Given the description of an element on the screen output the (x, y) to click on. 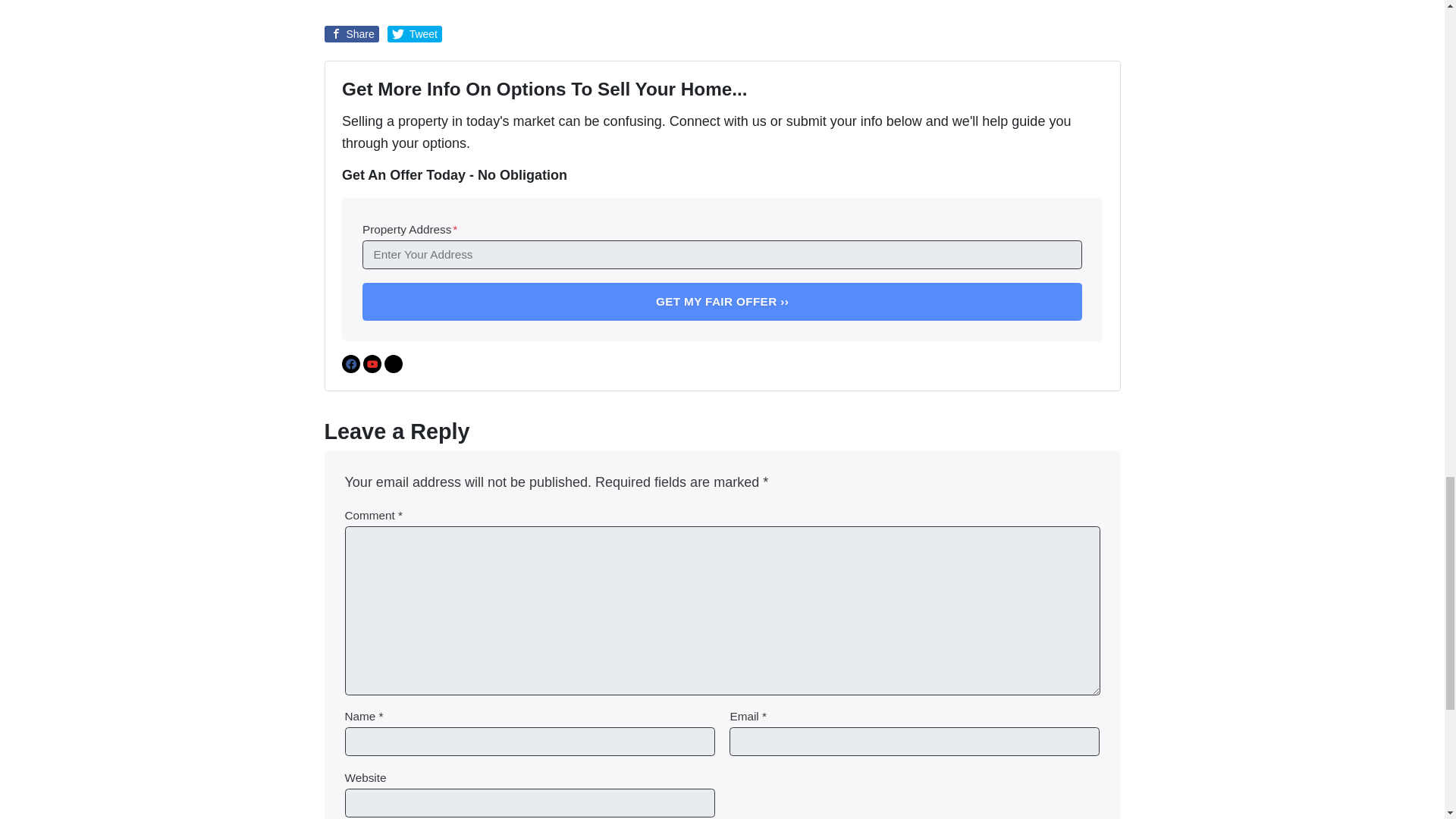
Tweet (414, 33)
Instagram (393, 363)
Share (351, 33)
YouTube (371, 363)
Share on Twitter (414, 33)
Share on Facebook (351, 33)
Facebook (350, 363)
